Given the description of an element on the screen output the (x, y) to click on. 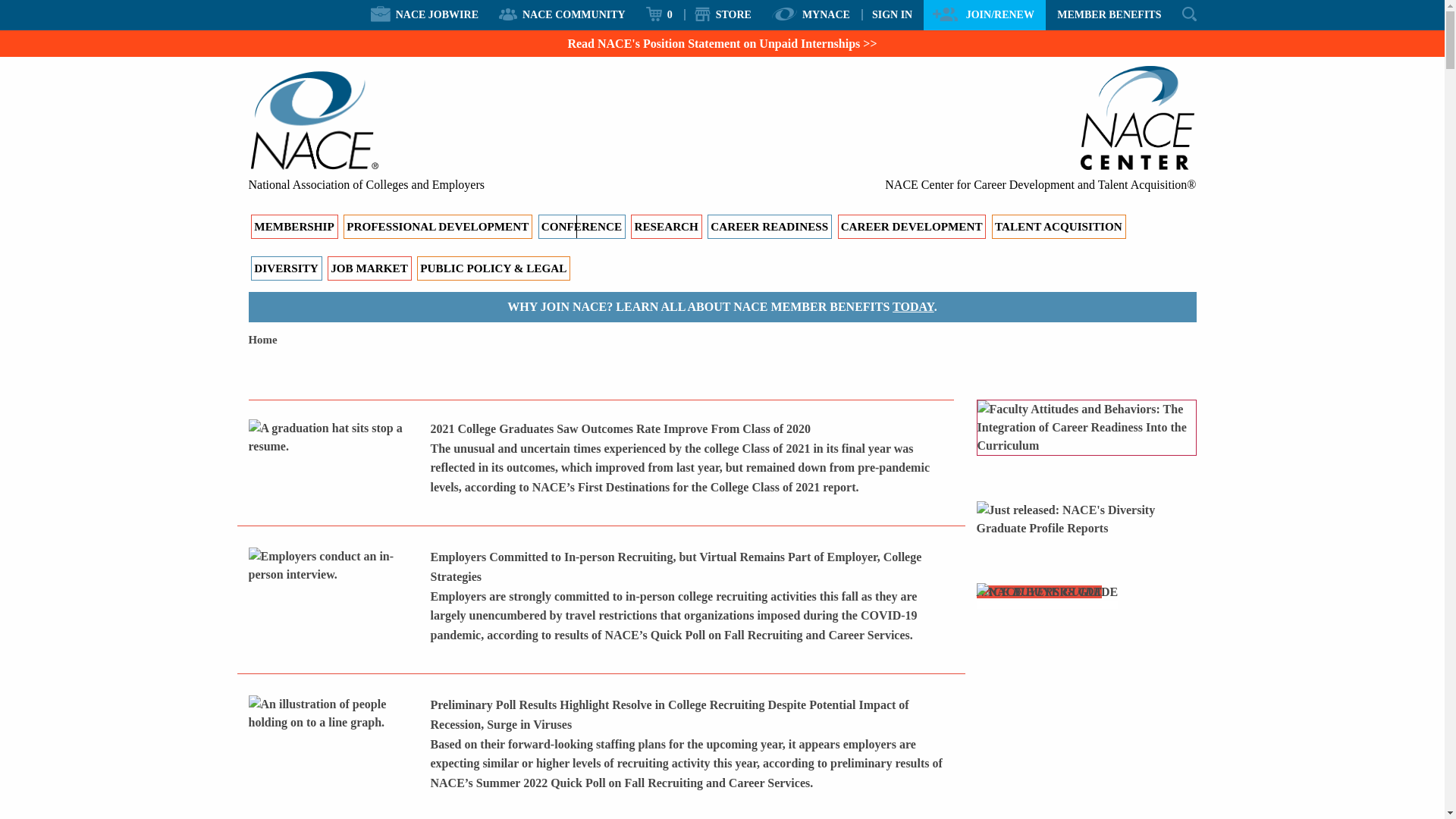
0 (659, 14)
CONFERENCE (582, 226)
MYNACE (810, 14)
NACE JOBWIRE (425, 14)
NACE COMMUNITY (562, 14)
STORE (722, 14)
MEMBER BENEFITS (1108, 14)
SIGN IN (892, 14)
PROFESSIONAL DEVELOPMENT (437, 226)
MEMBERSHIP (293, 226)
RESEARCH (665, 226)
